Given the description of an element on the screen output the (x, y) to click on. 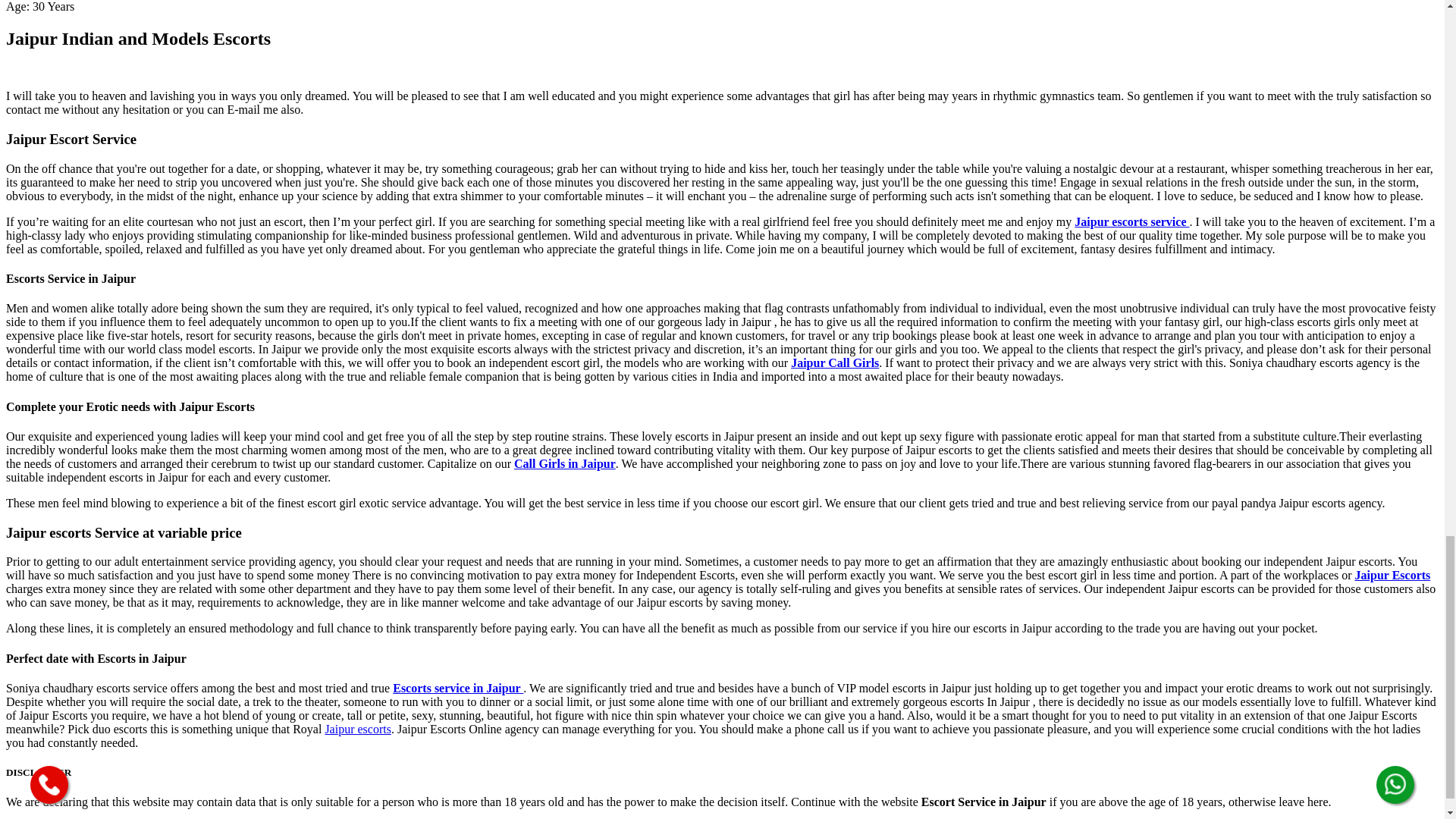
Jaipur Escorts (1393, 574)
Call Girls in Jaipur (564, 463)
Jaipur Call Girls (834, 362)
Escorts service in Jaipur (457, 687)
Jaipur escorts service (1131, 221)
Jaipur escorts (357, 728)
